Given the description of an element on the screen output the (x, y) to click on. 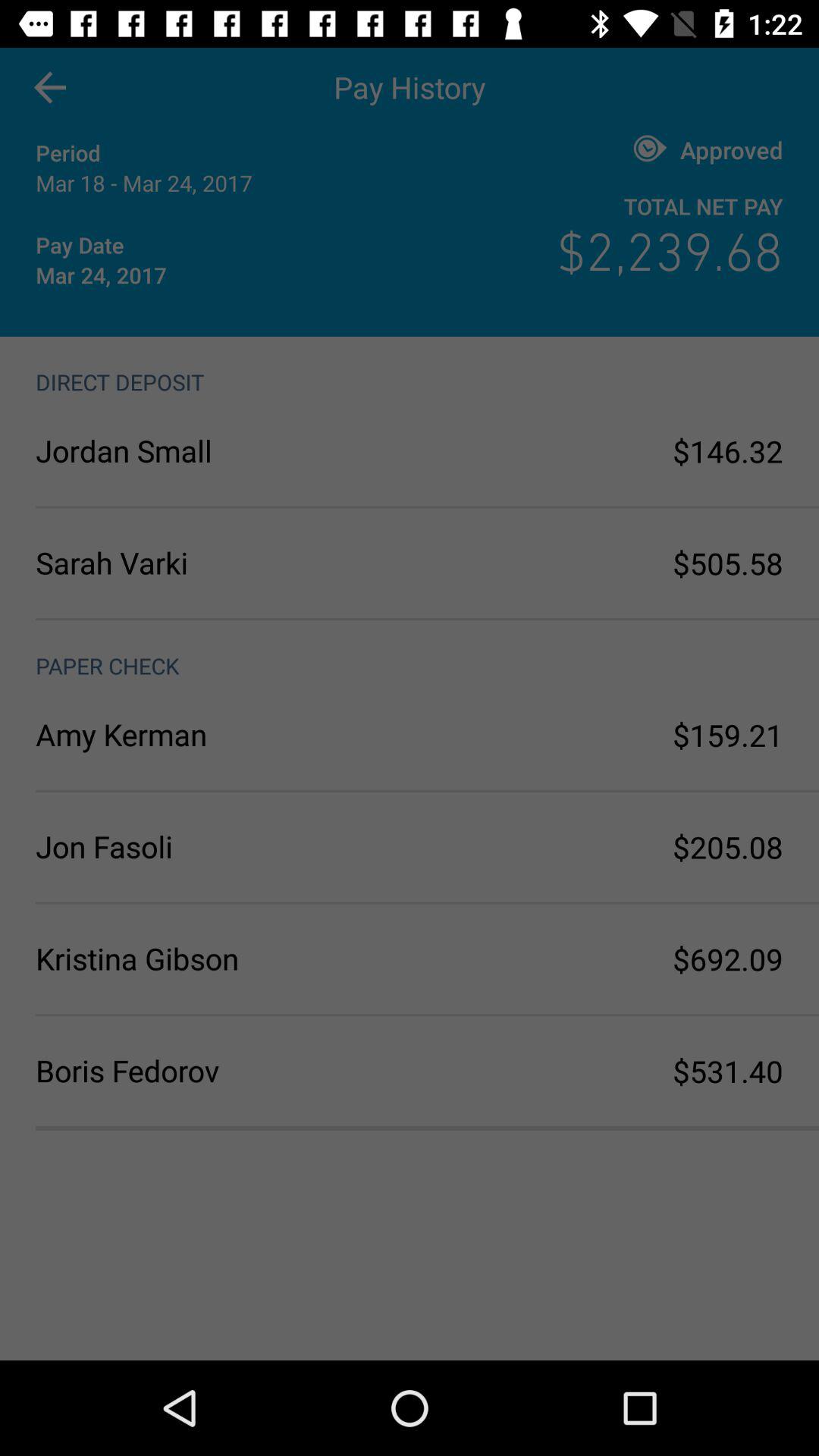
click item above the $531.40 item (727, 959)
